Given the description of an element on the screen output the (x, y) to click on. 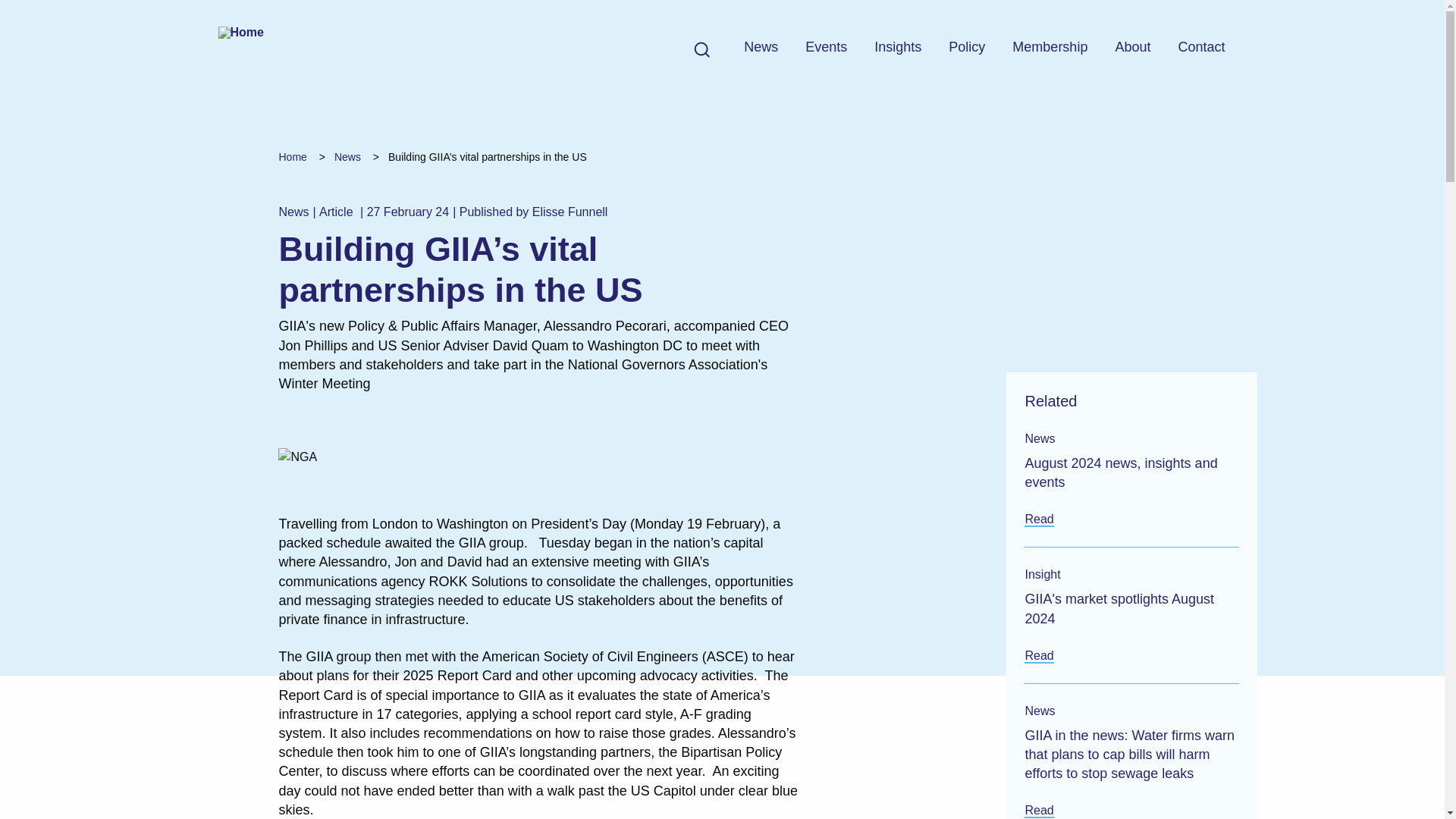
News (347, 156)
Events (826, 49)
Insights (898, 49)
Contact (1200, 49)
Search (694, 49)
News (760, 49)
Policy (967, 49)
Membership (1049, 49)
About (1132, 49)
Home (291, 156)
